Given the description of an element on the screen output the (x, y) to click on. 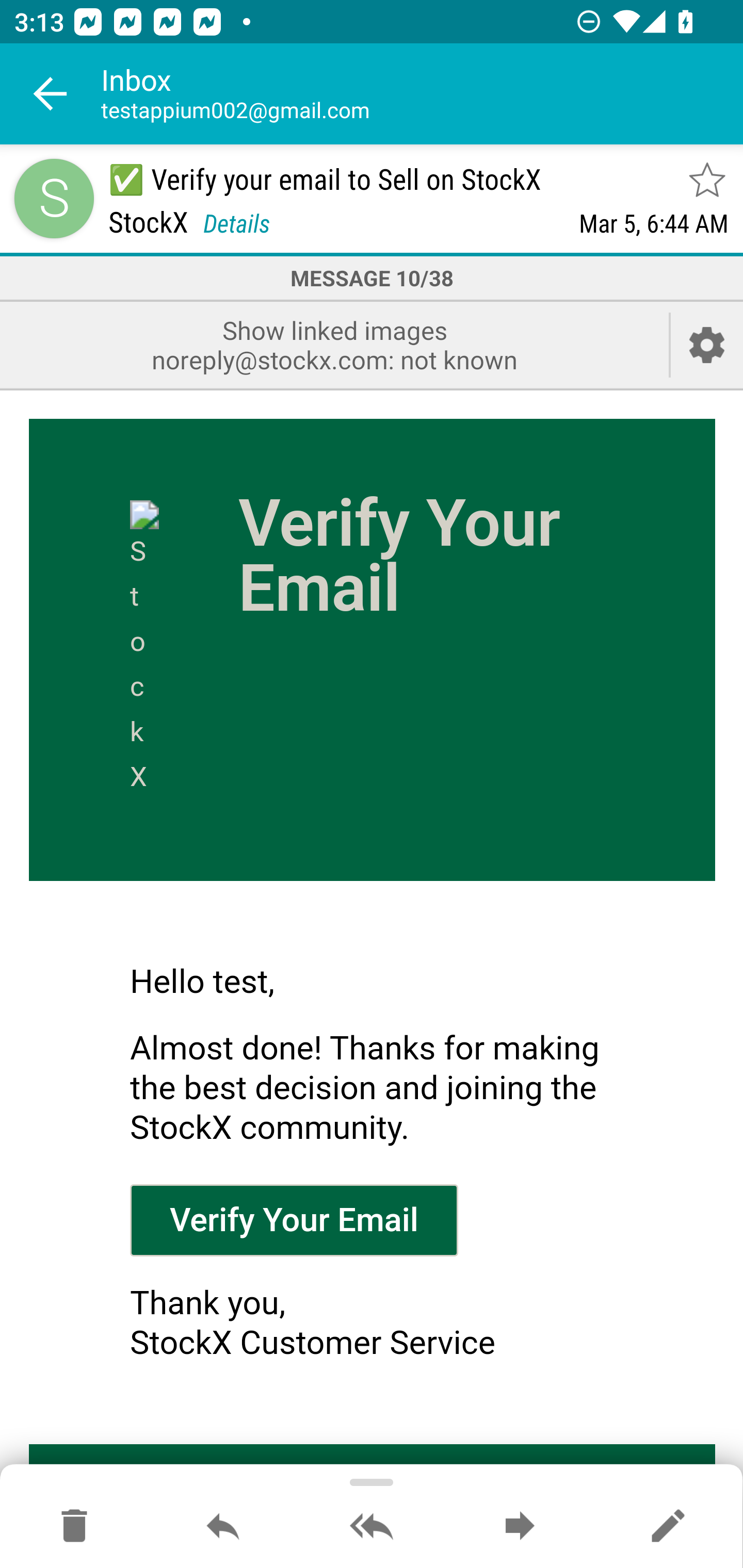
Navigate up (50, 93)
Inbox testappium002@gmail.com (422, 93)
Sender contact button (53, 198)
Show linked images
noreply@stockx.com: not known (334, 344)
Account setup (706, 344)
StockX (145, 649)
Verify Your Email (293, 1219)
Move to Deleted (74, 1527)
Reply (222, 1527)
Reply all (371, 1527)
Forward (519, 1527)
Reply as new (667, 1527)
